Given the description of an element on the screen output the (x, y) to click on. 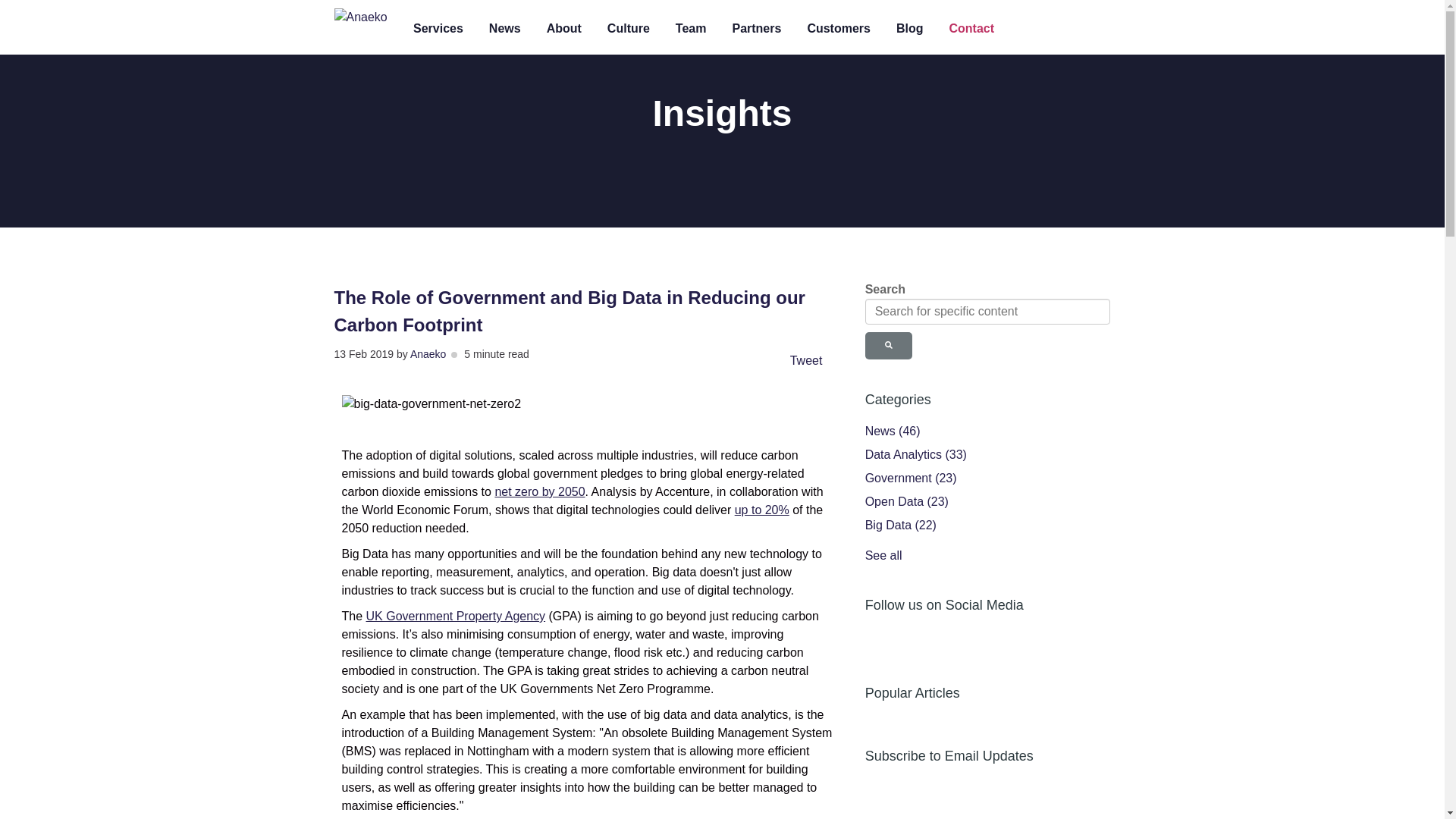
Team (691, 28)
Culture (628, 28)
net zero by 2050 (540, 491)
Contact (972, 28)
UK Government Property Agency (456, 615)
Anaeko (427, 354)
Tweet (806, 359)
Services (437, 28)
Customers (838, 28)
Anaeko (360, 17)
About (564, 28)
Blog (909, 28)
News (505, 28)
Partners (756, 28)
